Given the description of an element on the screen output the (x, y) to click on. 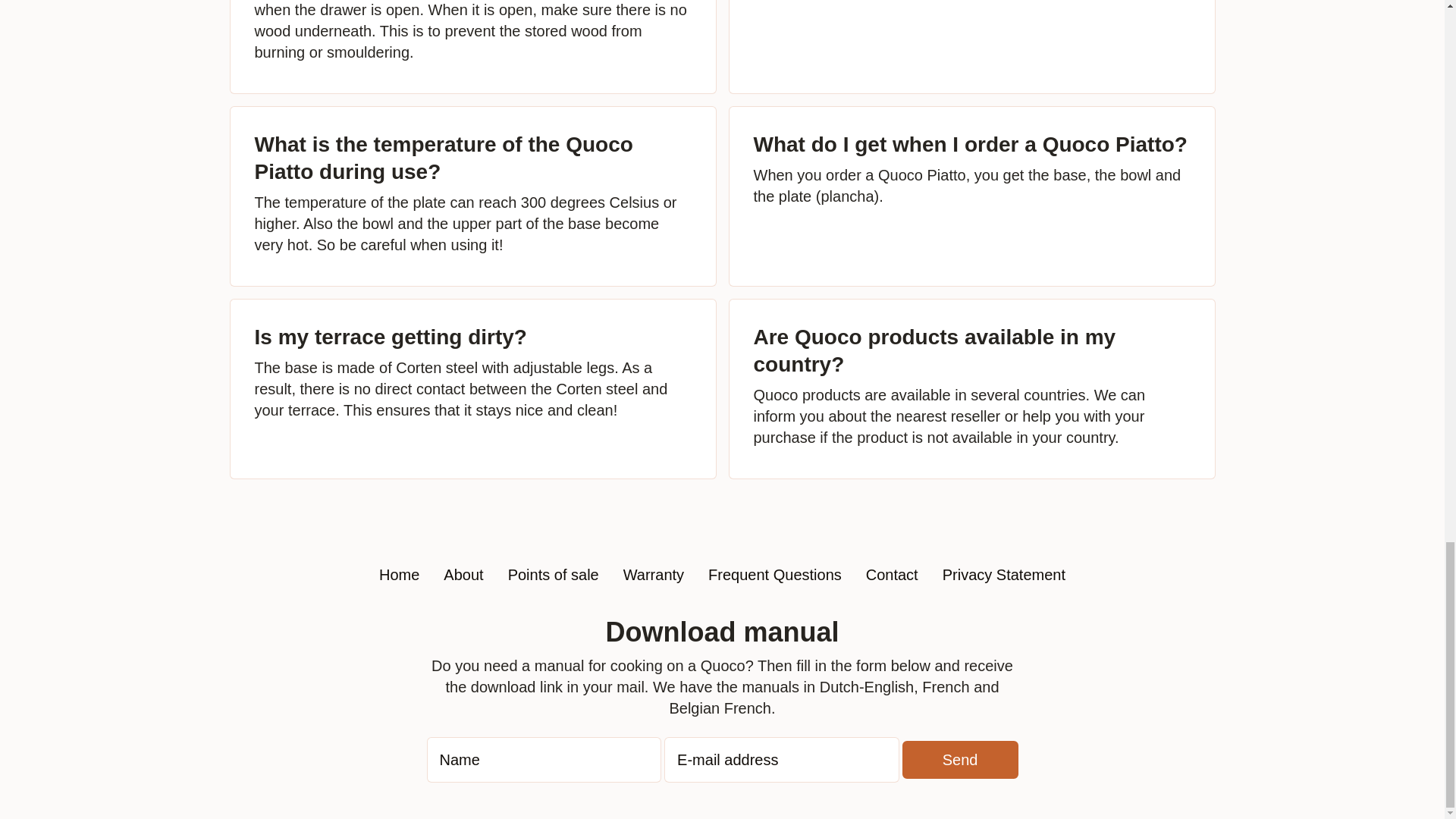
Send (959, 759)
Warranty (653, 574)
Privacy Statement (1003, 574)
About (463, 574)
Contact (892, 574)
Home (398, 574)
Frequent Questions (774, 574)
Send (959, 759)
Points of sale (553, 574)
